Given the description of an element on the screen output the (x, y) to click on. 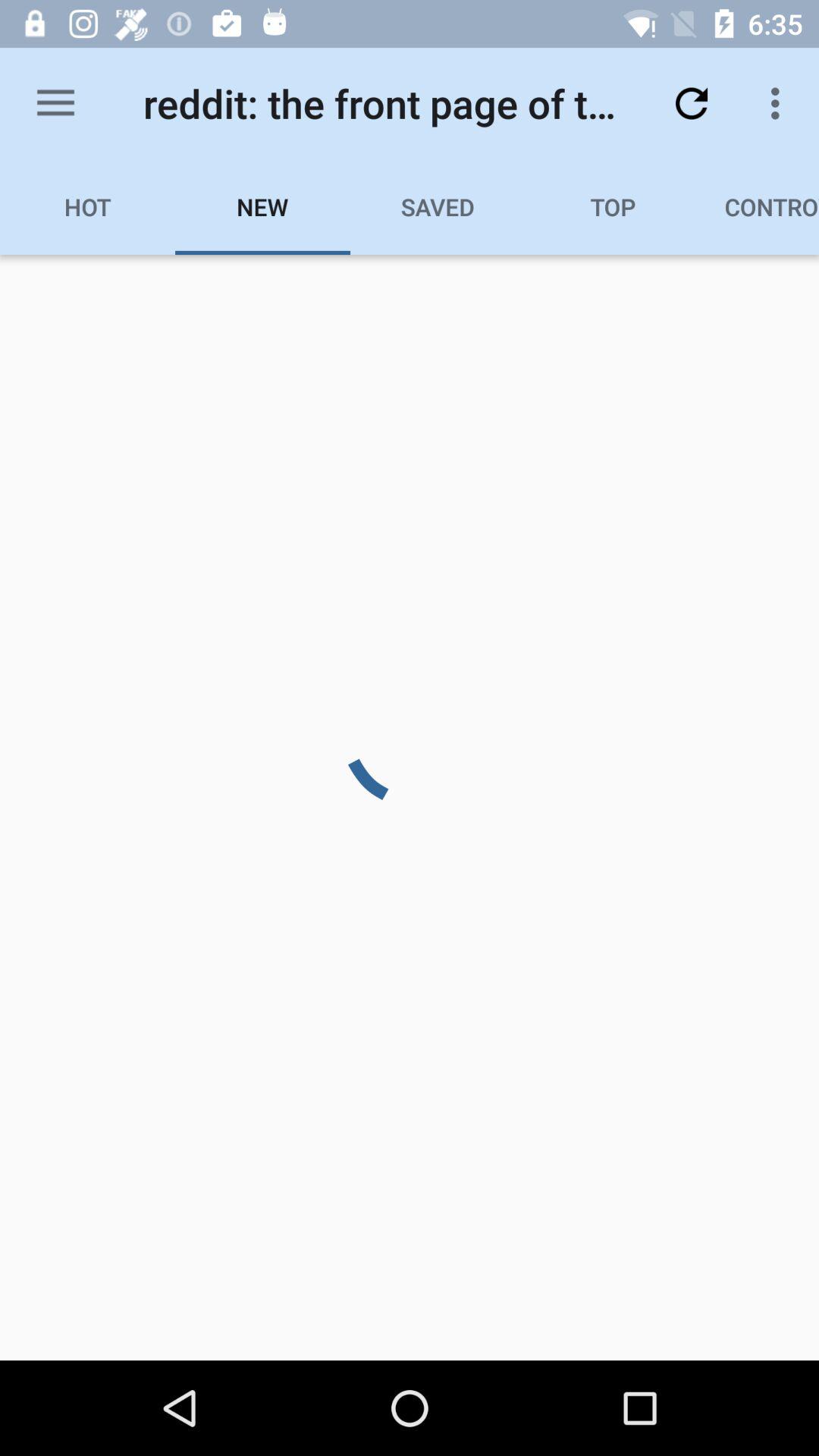
select icon above controversial item (779, 103)
